Given the description of an element on the screen output the (x, y) to click on. 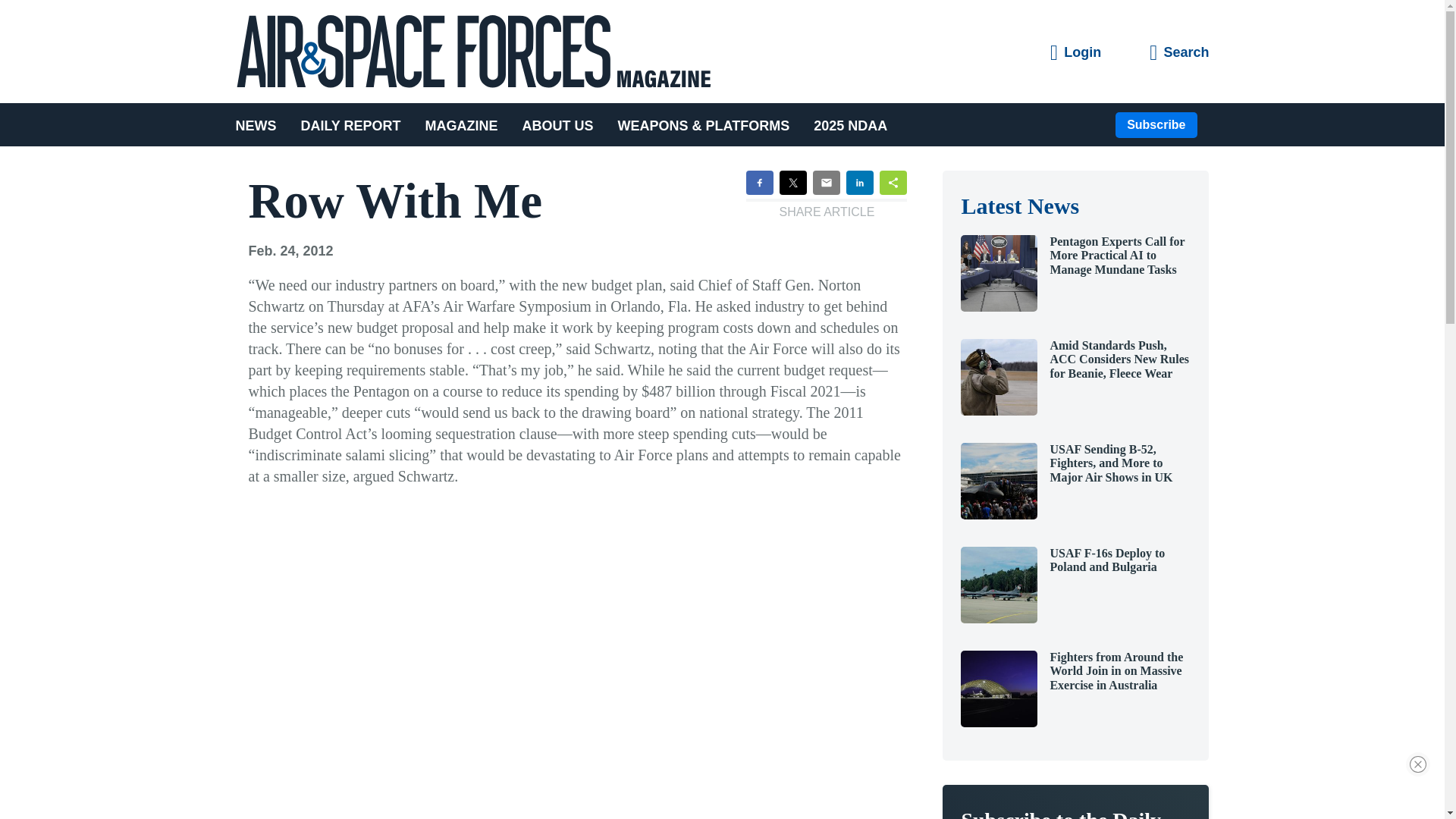
DAILY REPORT (350, 124)
ABOUT US (558, 124)
USAF F-16s Deploy to Poland and Bulgaria (1106, 560)
MAGAZINE (462, 124)
USAF F-16s Deploy to Poland and Bulgaria (998, 618)
NEWS (261, 124)
Search (1179, 52)
